Given the description of an element on the screen output the (x, y) to click on. 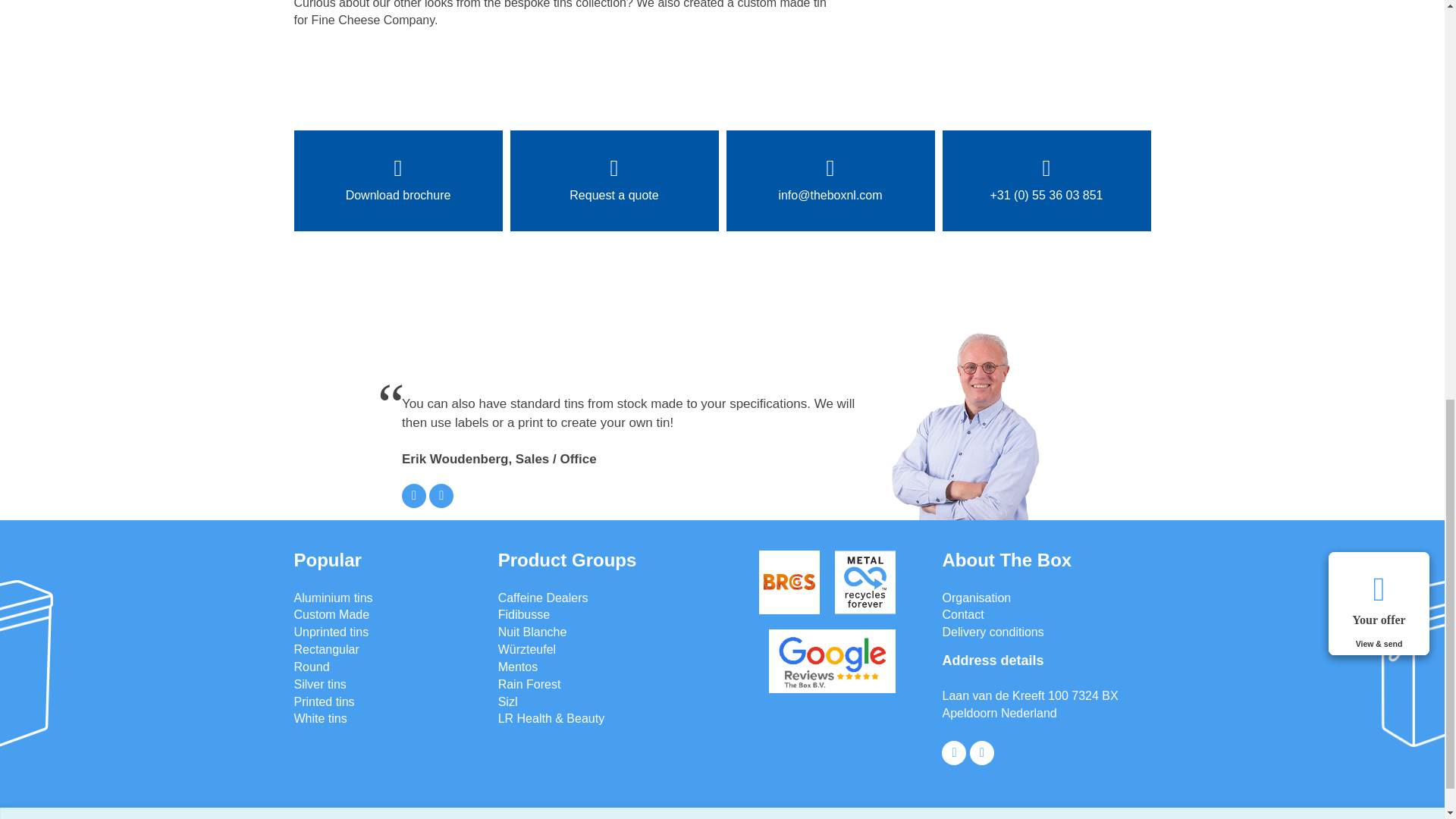
Contact opnemen via de email (413, 495)
Telefonisch contact opnemen (440, 495)
